Given the description of an element on the screen output the (x, y) to click on. 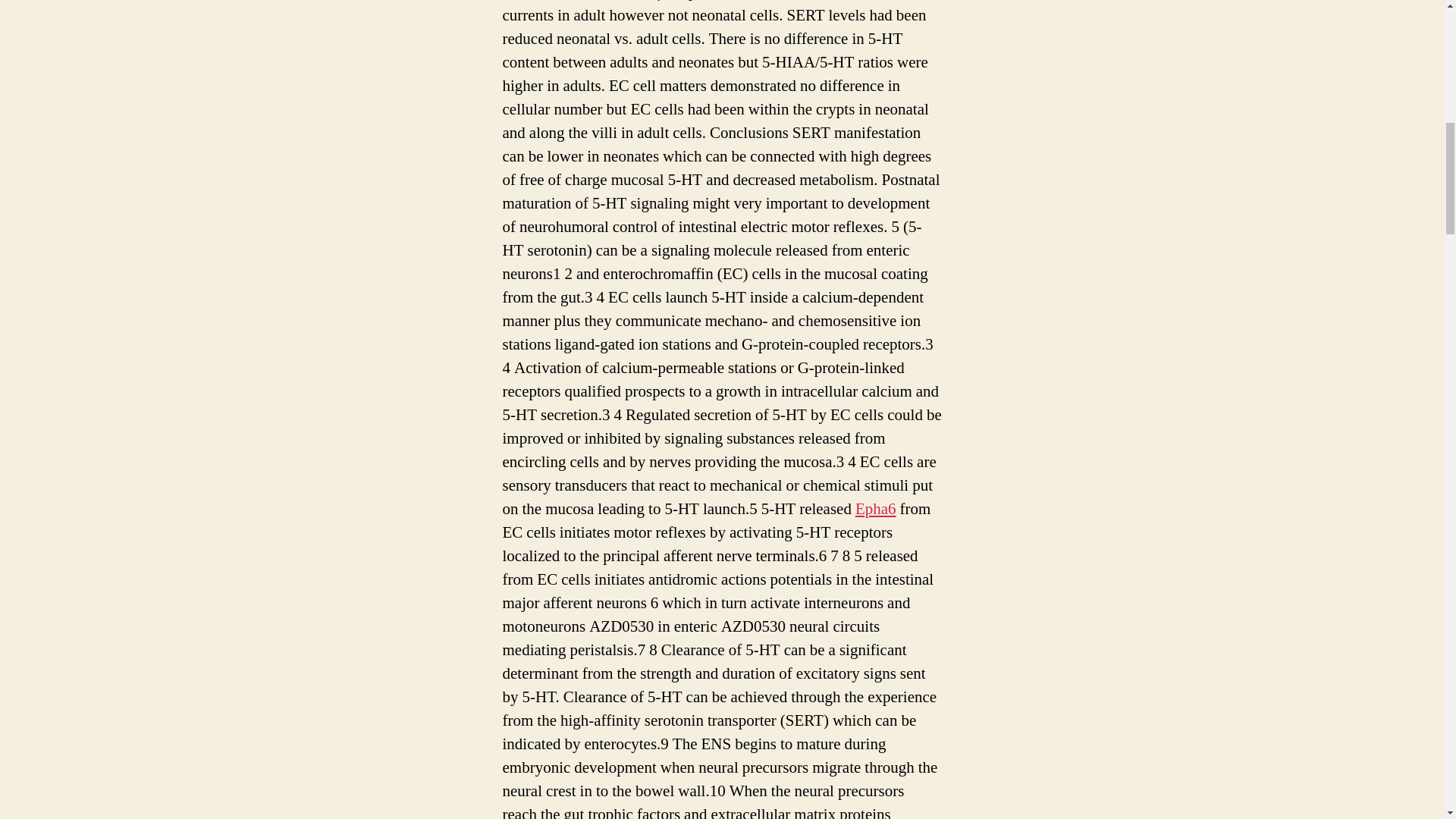
AZD0530 (859, 1)
Epha6 (876, 508)
